Given the description of an element on the screen output the (x, y) to click on. 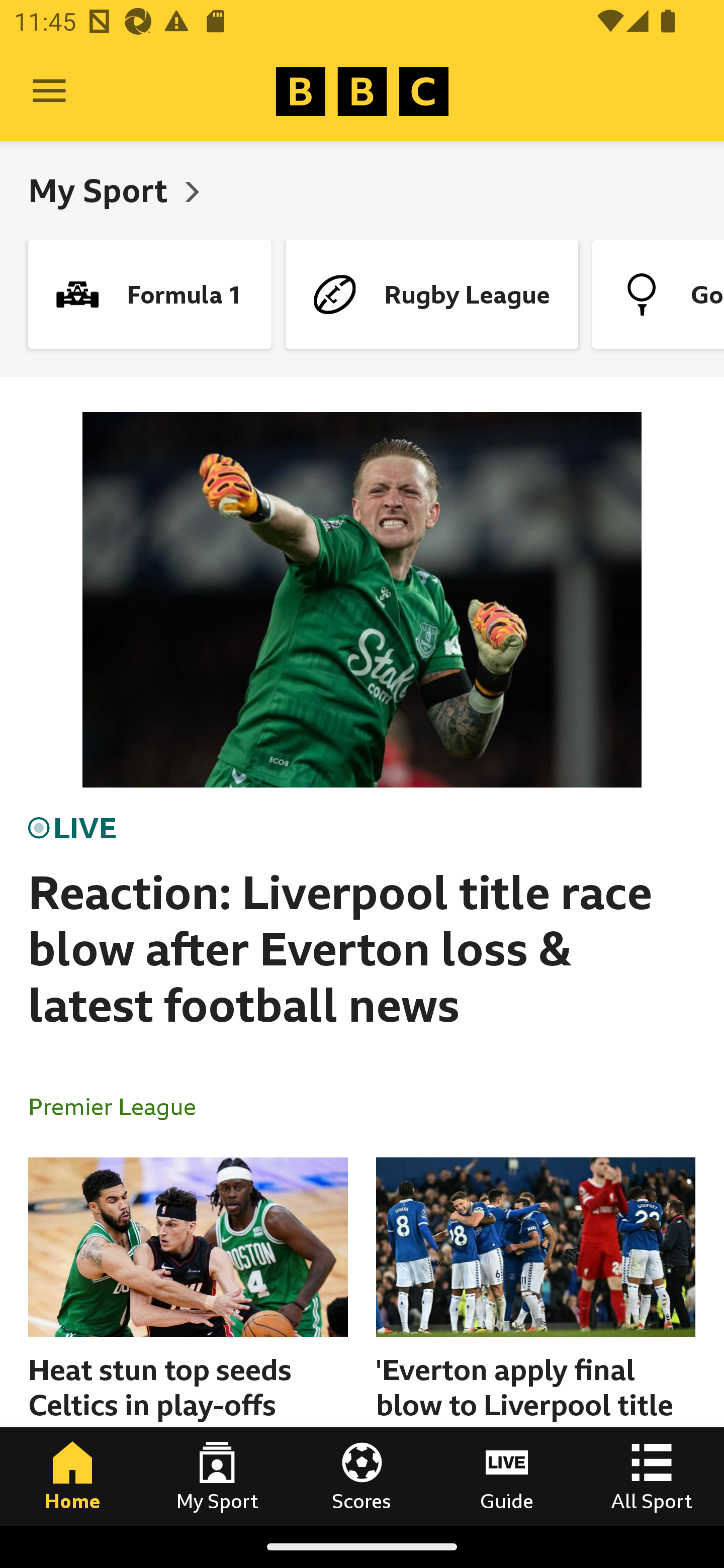
Open Menu (49, 91)
My Sport (101, 190)
Premier League In the section Premier League (119, 1106)
My Sport (216, 1475)
Scores (361, 1475)
Guide (506, 1475)
All Sport (651, 1475)
